Given the description of an element on the screen output the (x, y) to click on. 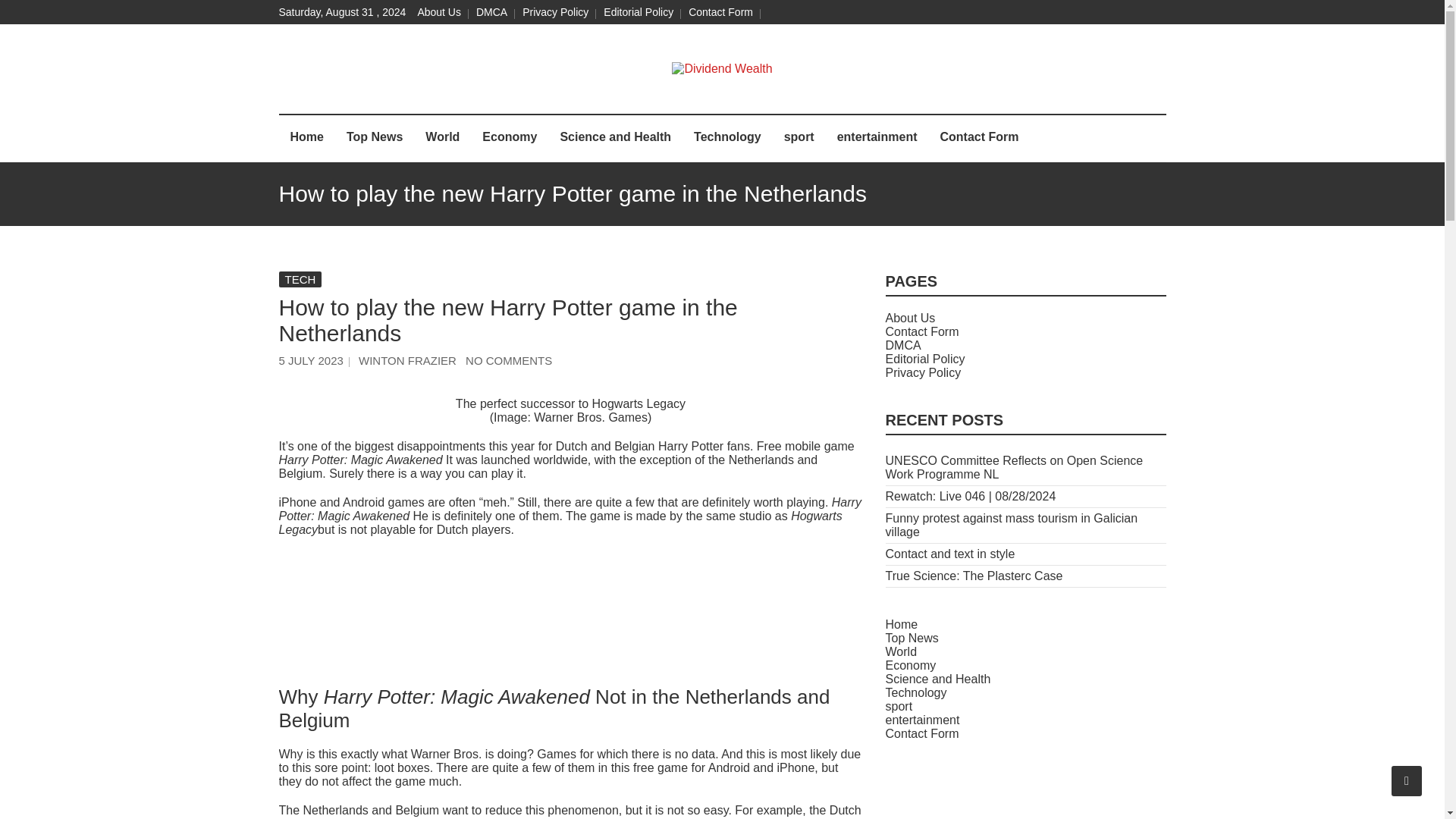
Top News (373, 138)
Editorial Policy (638, 11)
True Science: The Plasterc Case (973, 575)
World (901, 651)
Home (306, 138)
Economy (509, 138)
Contact Form (720, 11)
How to play the new Harry Potter game in the Netherlands (407, 359)
TECH (300, 279)
World (441, 138)
